Given the description of an element on the screen output the (x, y) to click on. 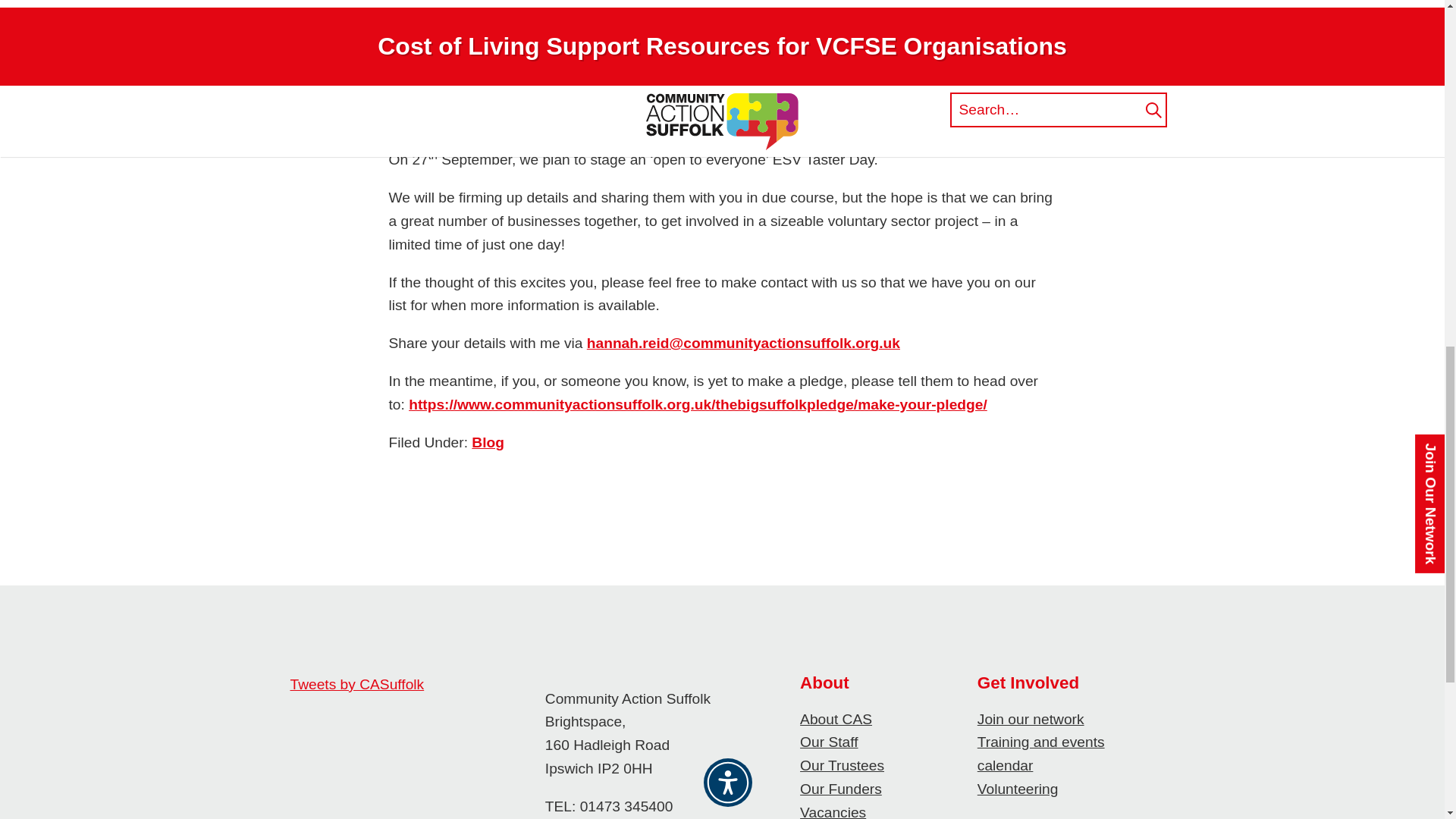
Vacancies (832, 811)
About CAS (835, 719)
Training and events calendar (1040, 753)
Tweets by CASuffolk (356, 684)
Join our network (1030, 719)
Our Staff (828, 741)
Blog (487, 442)
Volunteering (1017, 788)
Our Funders (840, 788)
Our Trustees (841, 765)
